Given the description of an element on the screen output the (x, y) to click on. 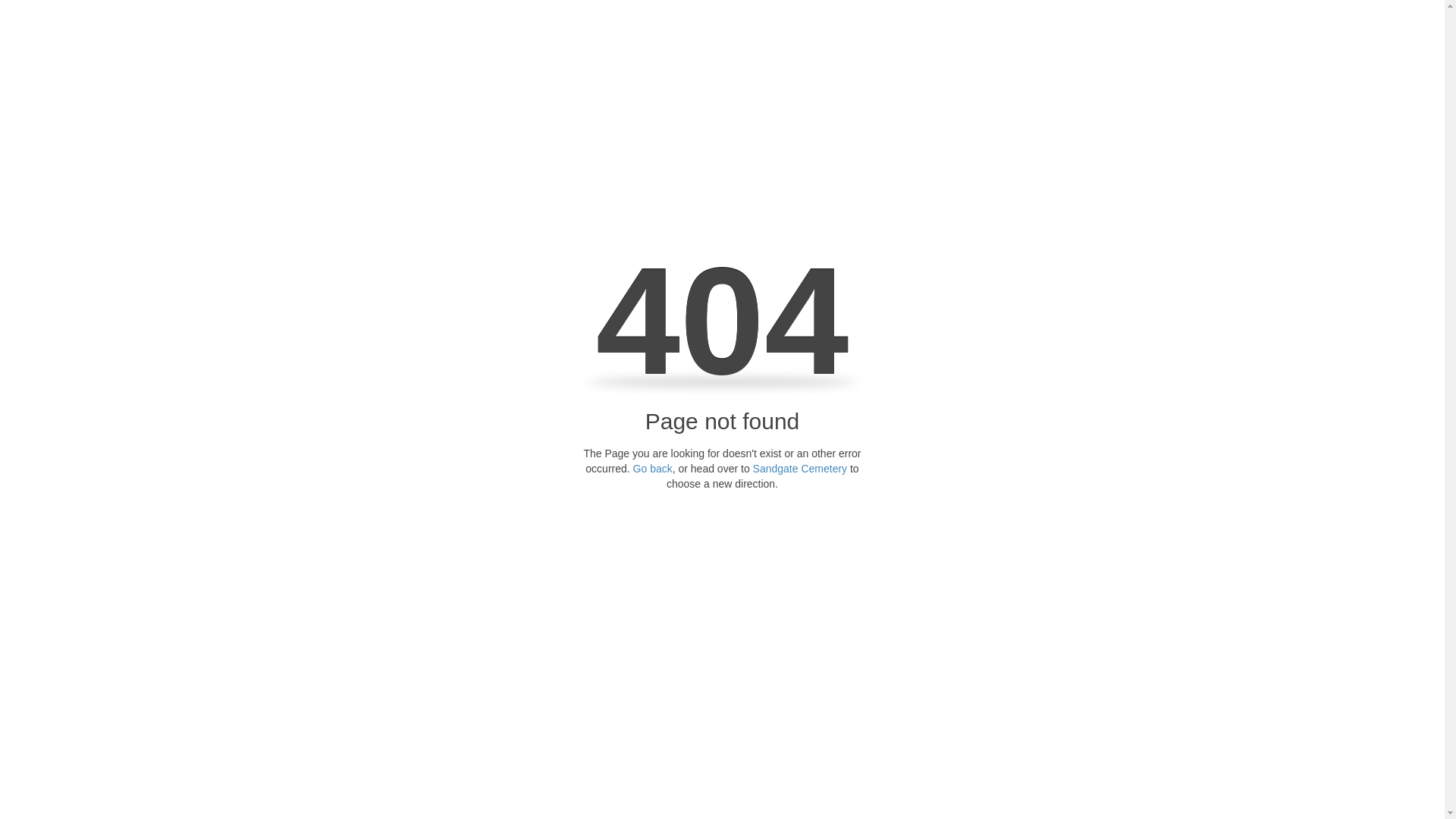
Sandgate Cemetery Element type: text (800, 468)
Go back Element type: text (652, 468)
